Given the description of an element on the screen output the (x, y) to click on. 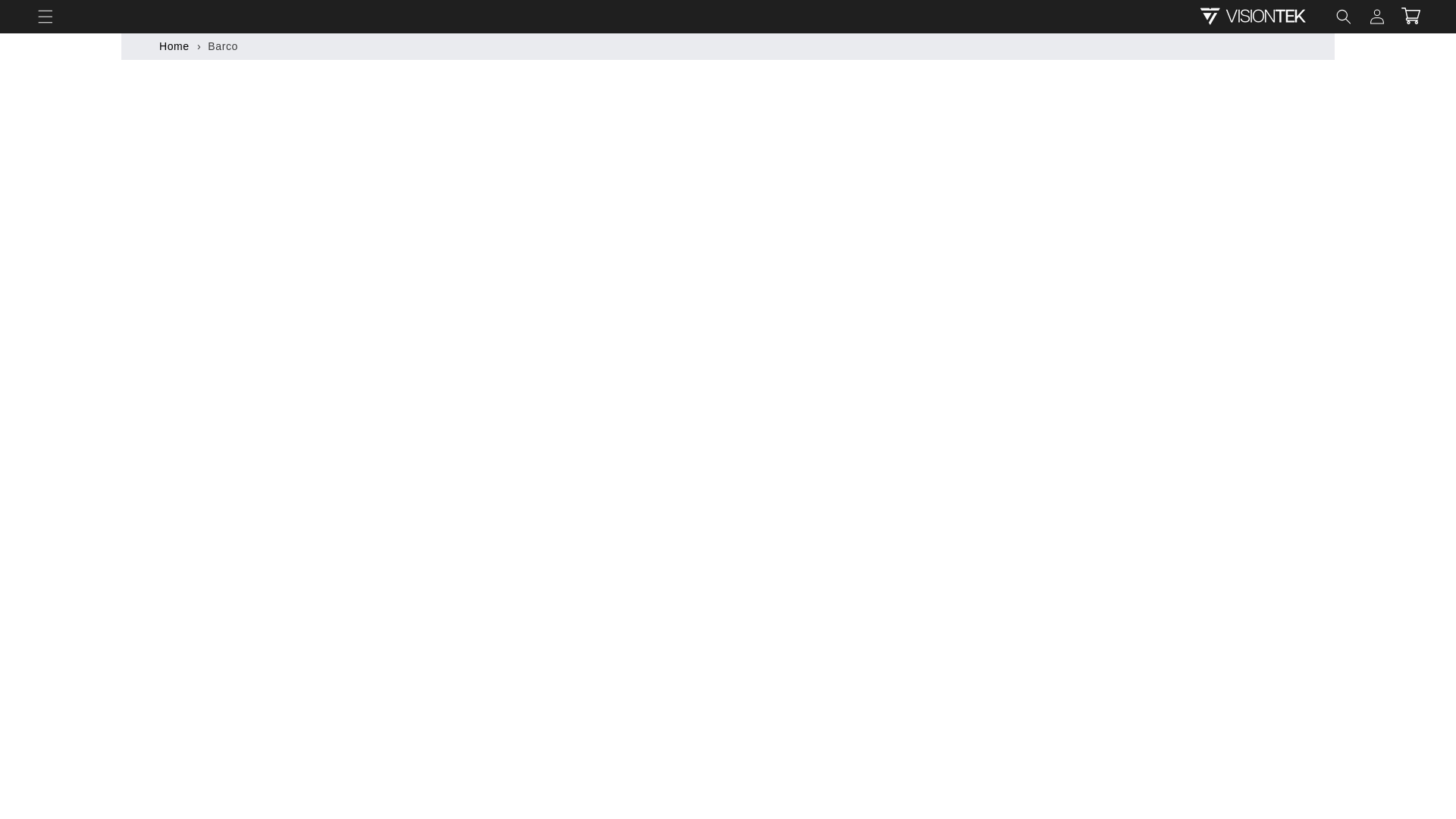
Home (173, 46)
Skip to content (45, 17)
